Given the description of an element on the screen output the (x, y) to click on. 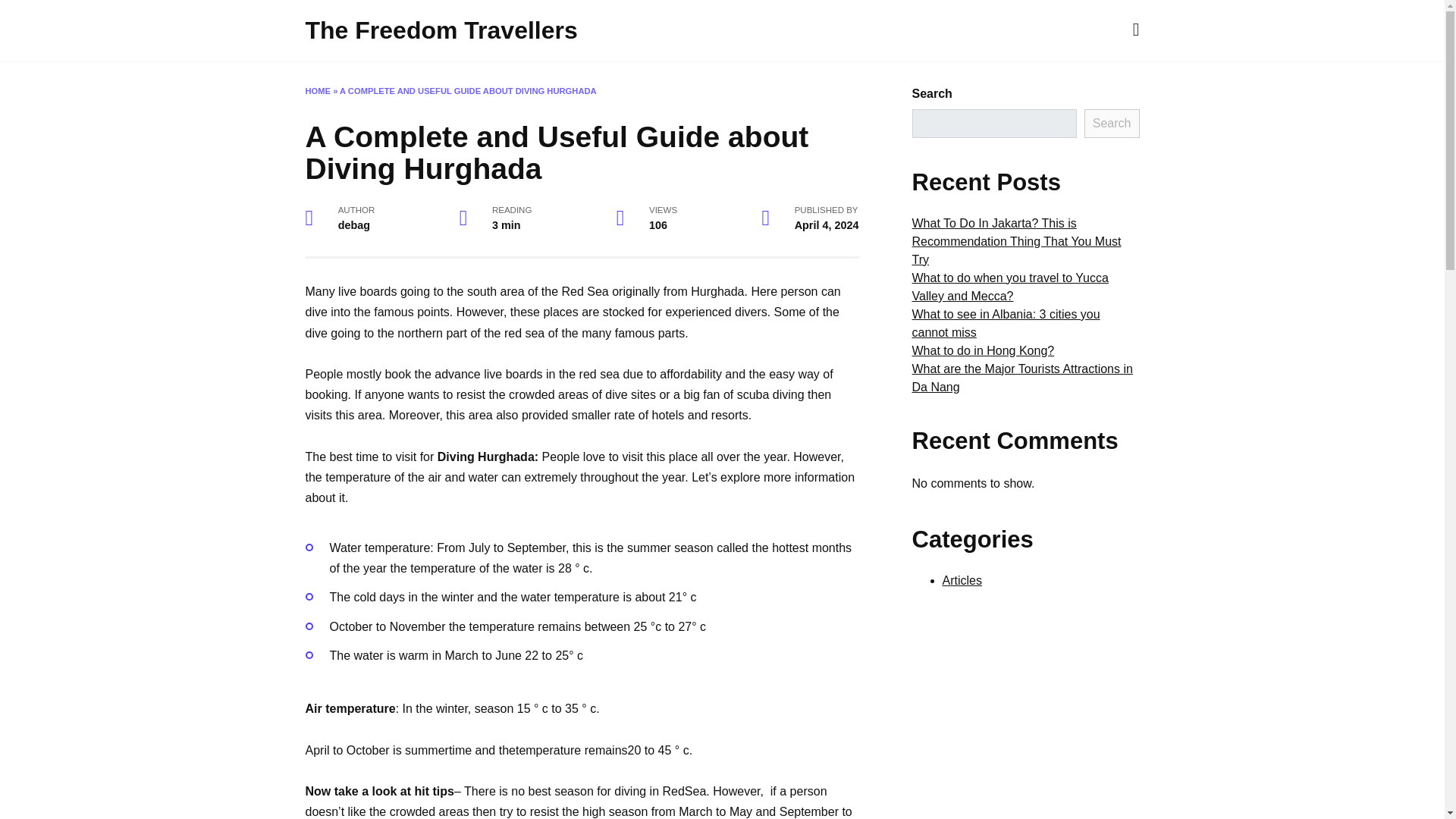
What to see in Albania: 3 cities you cannot miss (1005, 323)
What are the Major Tourists Attractions in Da Nang (1021, 377)
HOME (317, 90)
Search (1112, 123)
What to do in Hong Kong? (982, 350)
The Freedom Travellers (440, 30)
What to do when you travel to Yucca Valley and Mecca? (1009, 286)
Articles (961, 580)
